Given the description of an element on the screen output the (x, y) to click on. 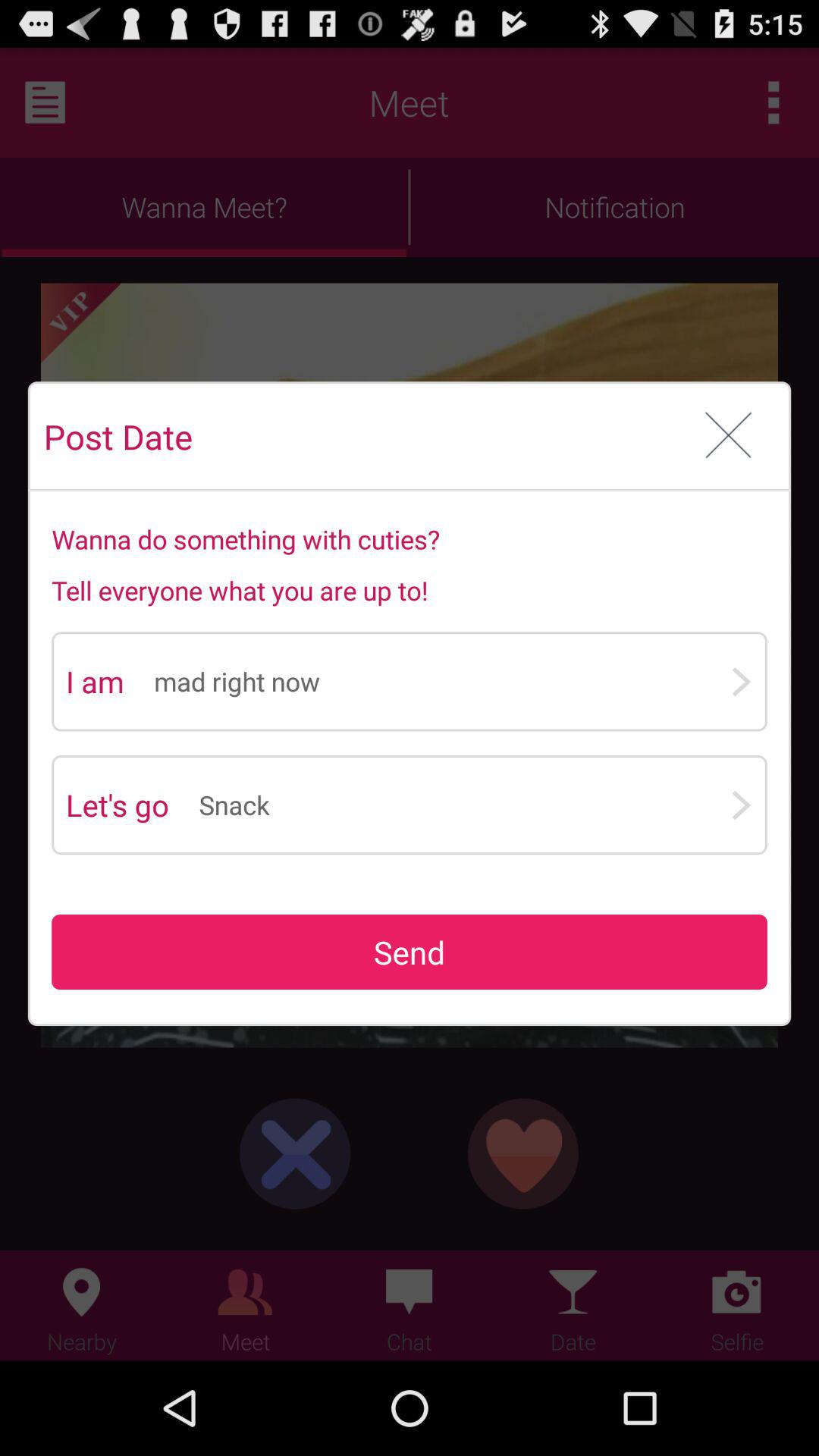
cancel (728, 436)
